Given the description of an element on the screen output the (x, y) to click on. 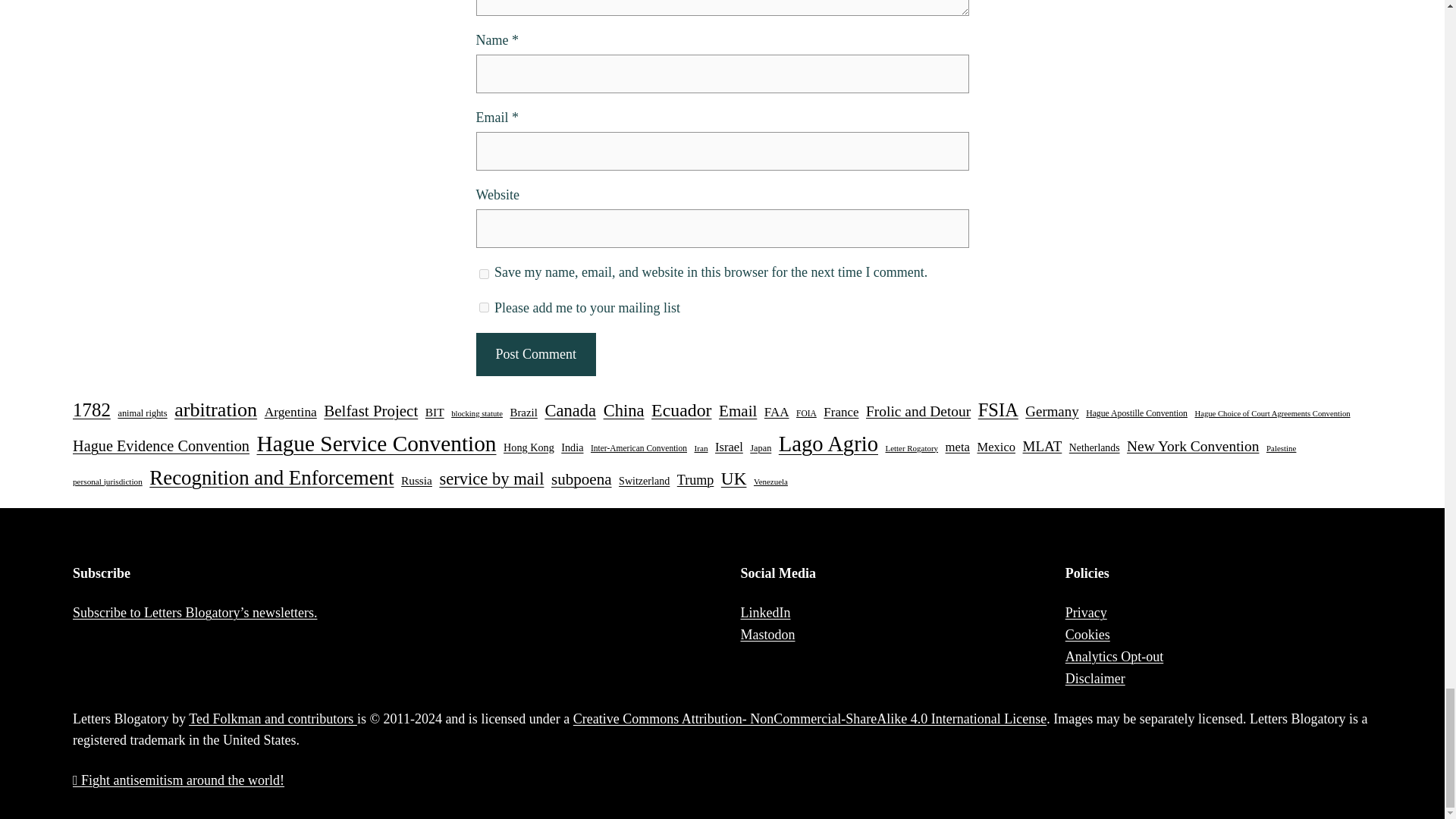
animal rights (142, 413)
1 (484, 307)
Post Comment (535, 353)
1782 (91, 409)
arbitration (215, 409)
Post Comment (535, 353)
Belfast Project (370, 411)
Argentina (290, 412)
